Given the description of an element on the screen output the (x, y) to click on. 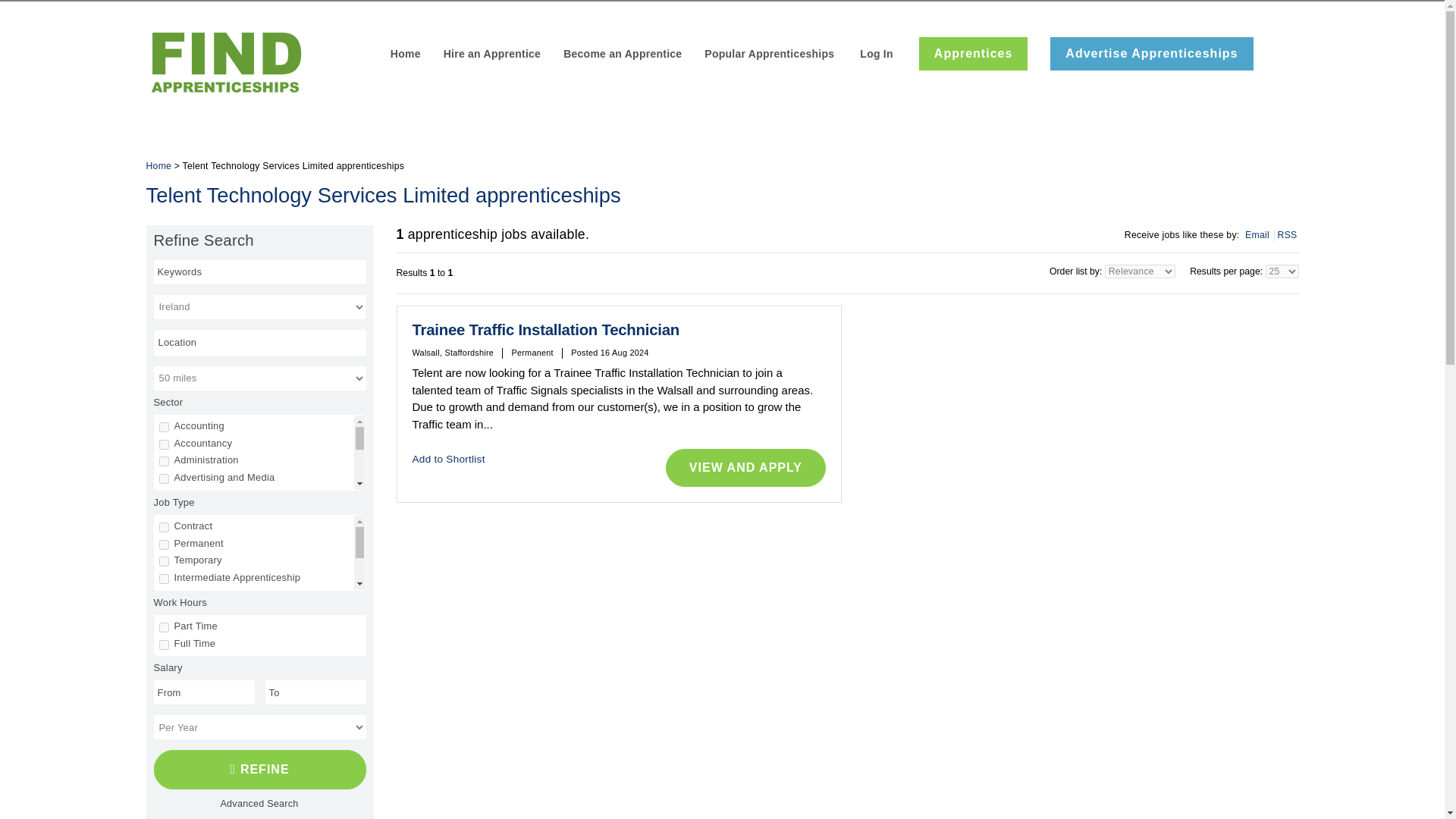
5 (163, 666)
36 (163, 495)
34 (163, 564)
Become an Apprentice (622, 54)
4 (163, 529)
3 (163, 479)
Hire an Apprentice (492, 54)
Find Apprenticeships (258, 769)
30 (163, 547)
